Given the description of an element on the screen output the (x, y) to click on. 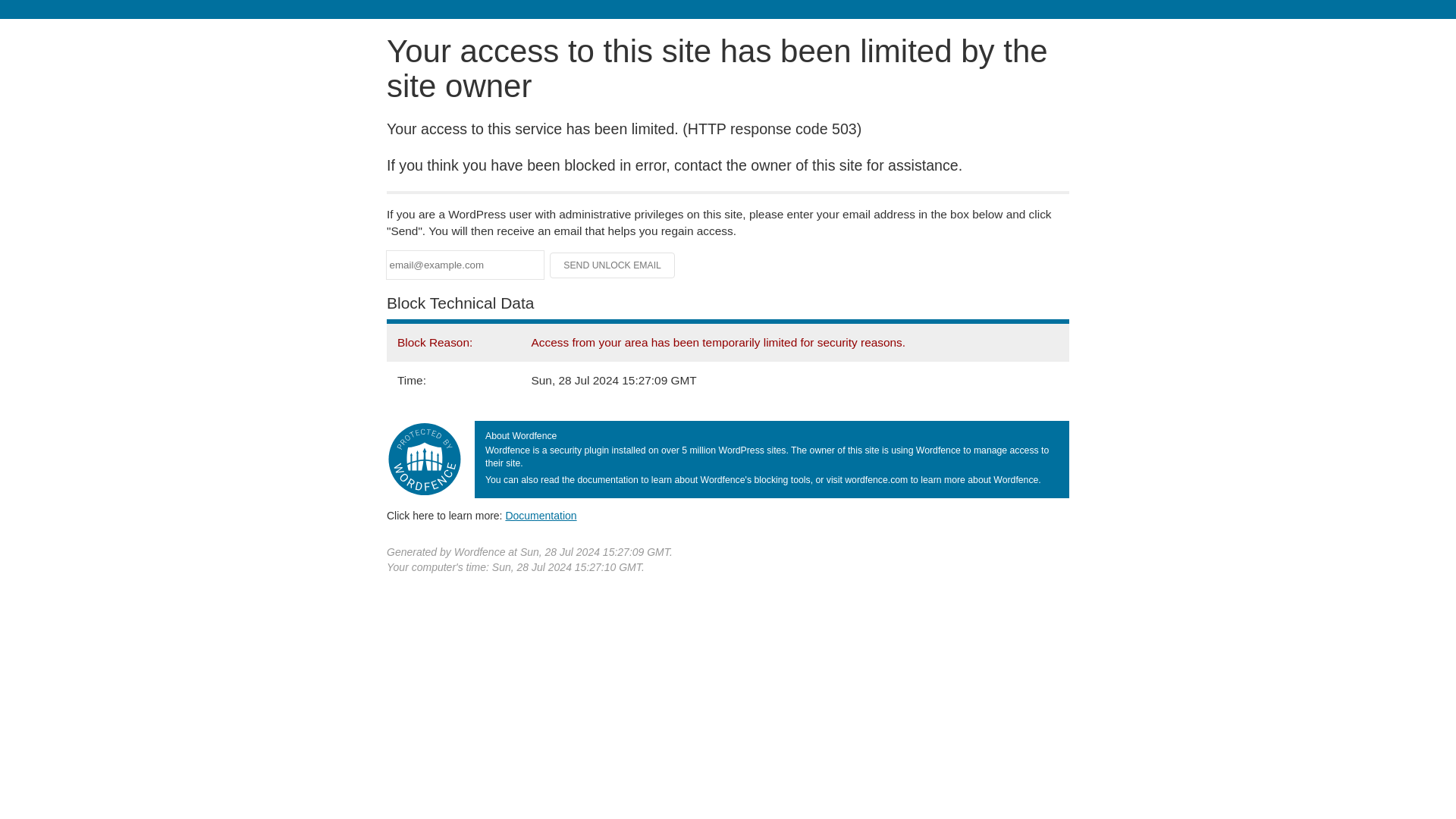
Send Unlock Email (612, 265)
Send Unlock Email (612, 265)
Documentation (540, 515)
